Given the description of an element on the screen output the (x, y) to click on. 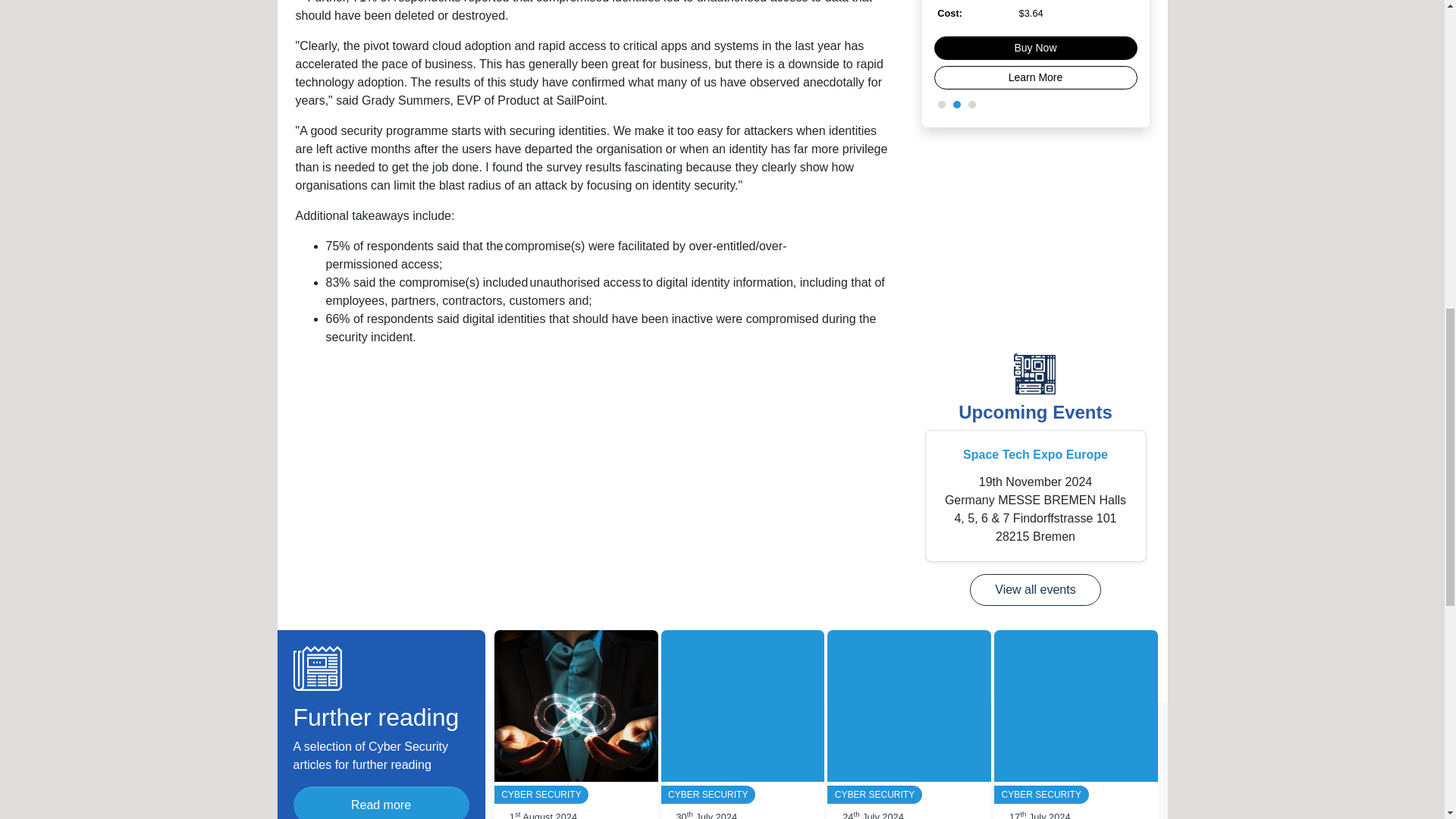
All upcoming events (1034, 590)
Space Tech Expo Europe (1035, 454)
All upcoming events (1035, 412)
